Given the description of an element on the screen output the (x, y) to click on. 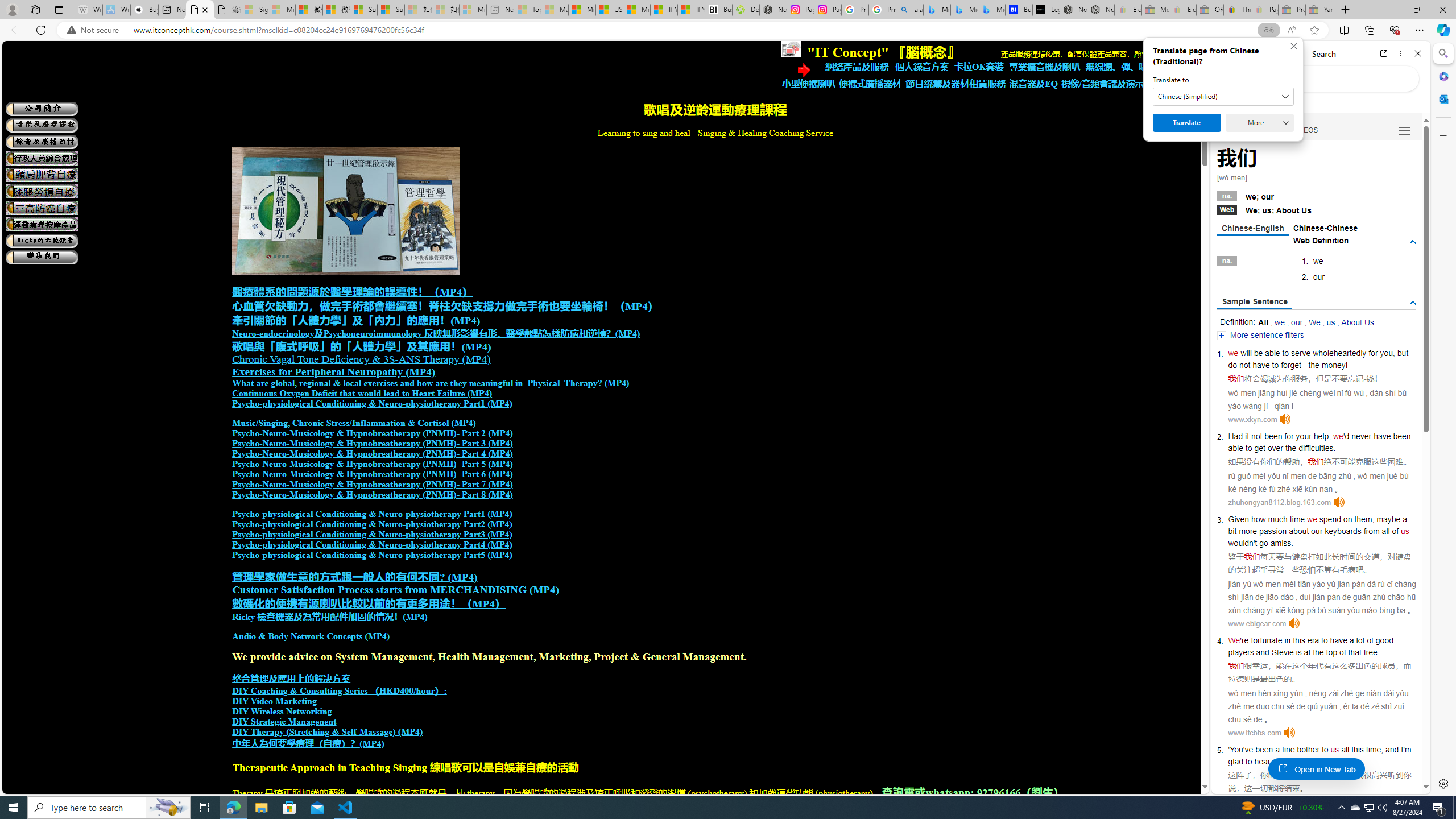
New tab - Sleeping (499, 9)
Customize (1442, 135)
for (1372, 352)
the (1290, 447)
fortunate (1266, 640)
